Given the description of an element on the screen output the (x, y) to click on. 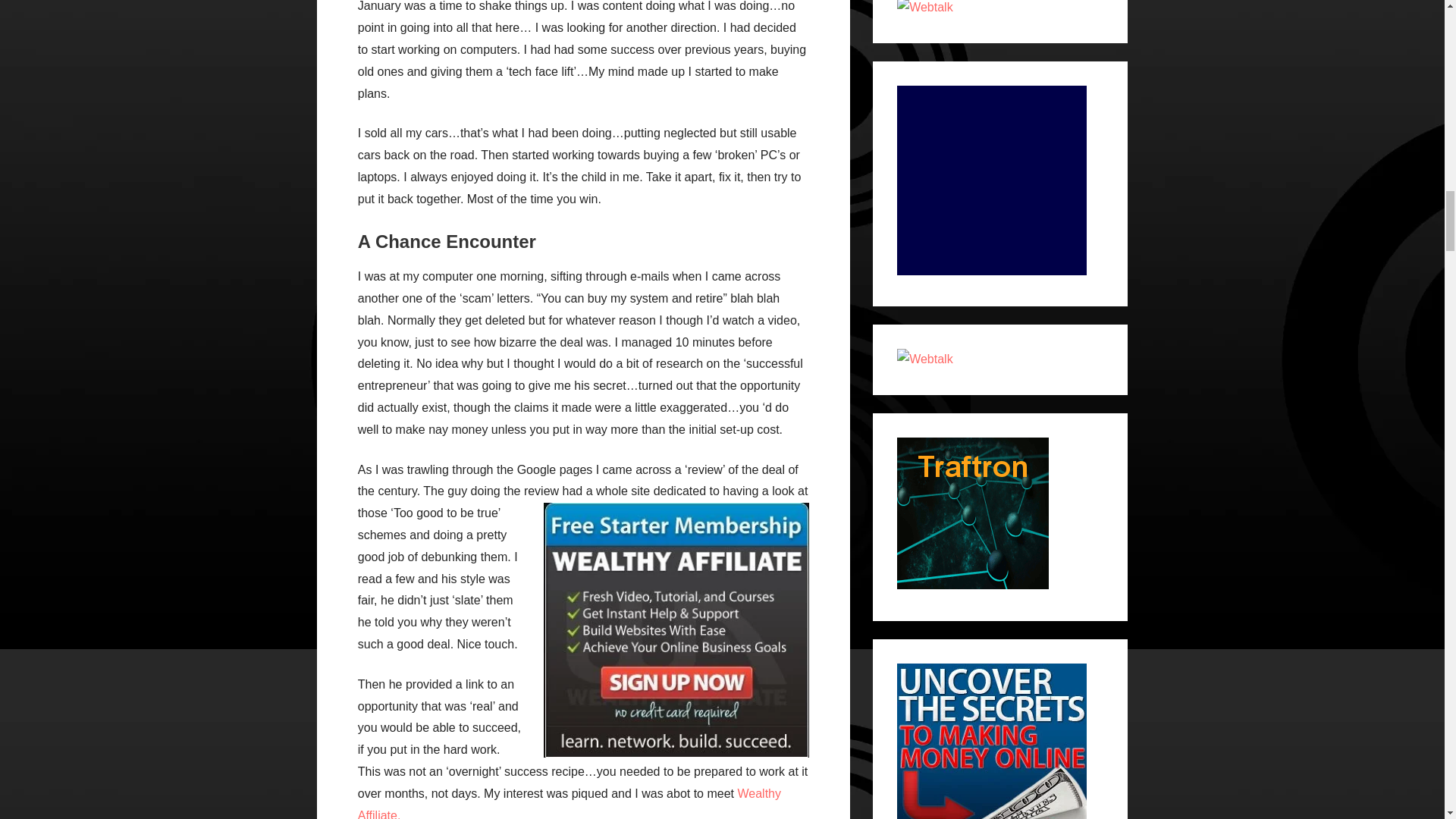
Wealthy Affiliate. (569, 803)
Wealthy Affiliate (676, 629)
